Given the description of an element on the screen output the (x, y) to click on. 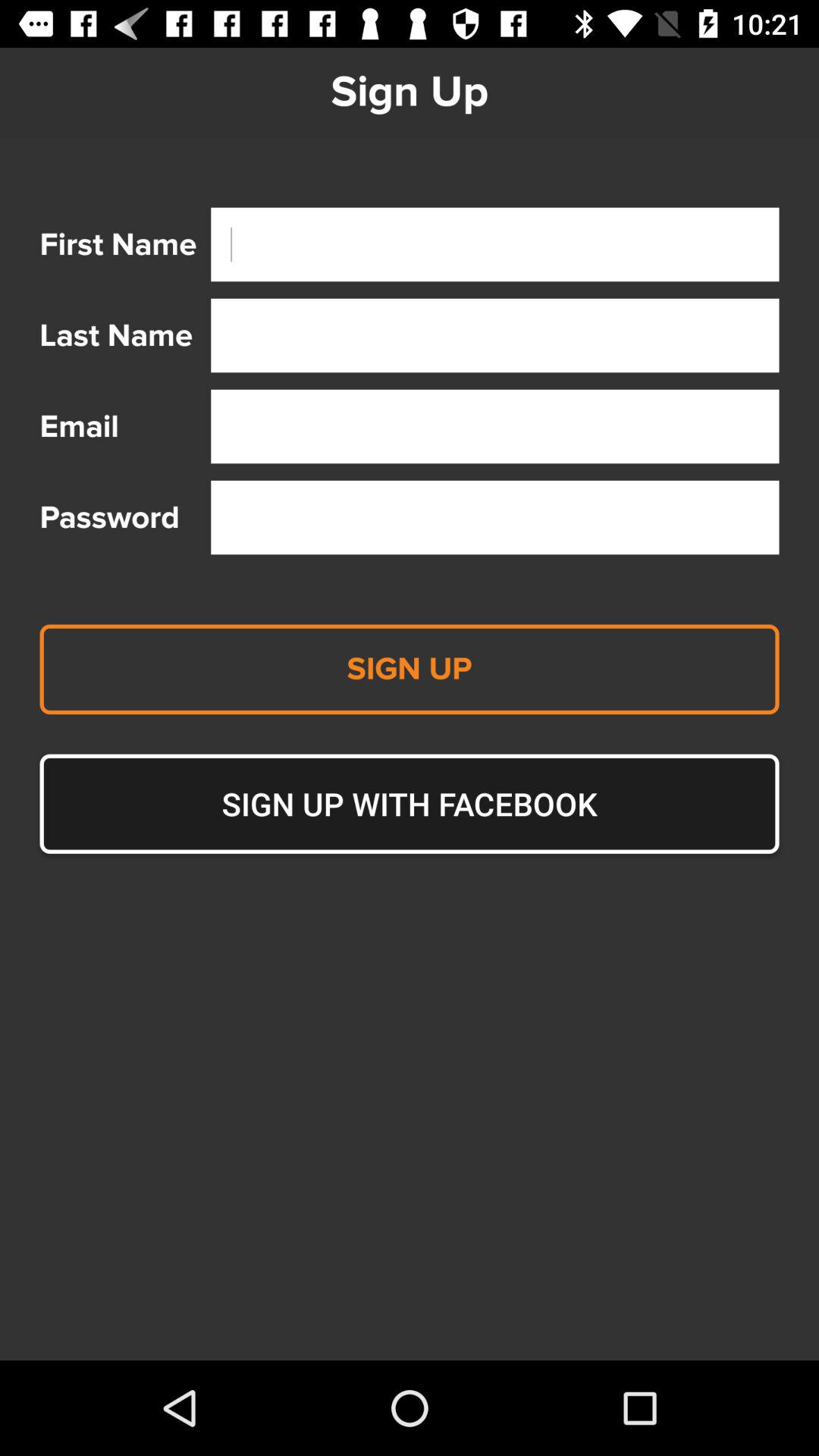
enter text (495, 244)
